Given the description of an element on the screen output the (x, y) to click on. 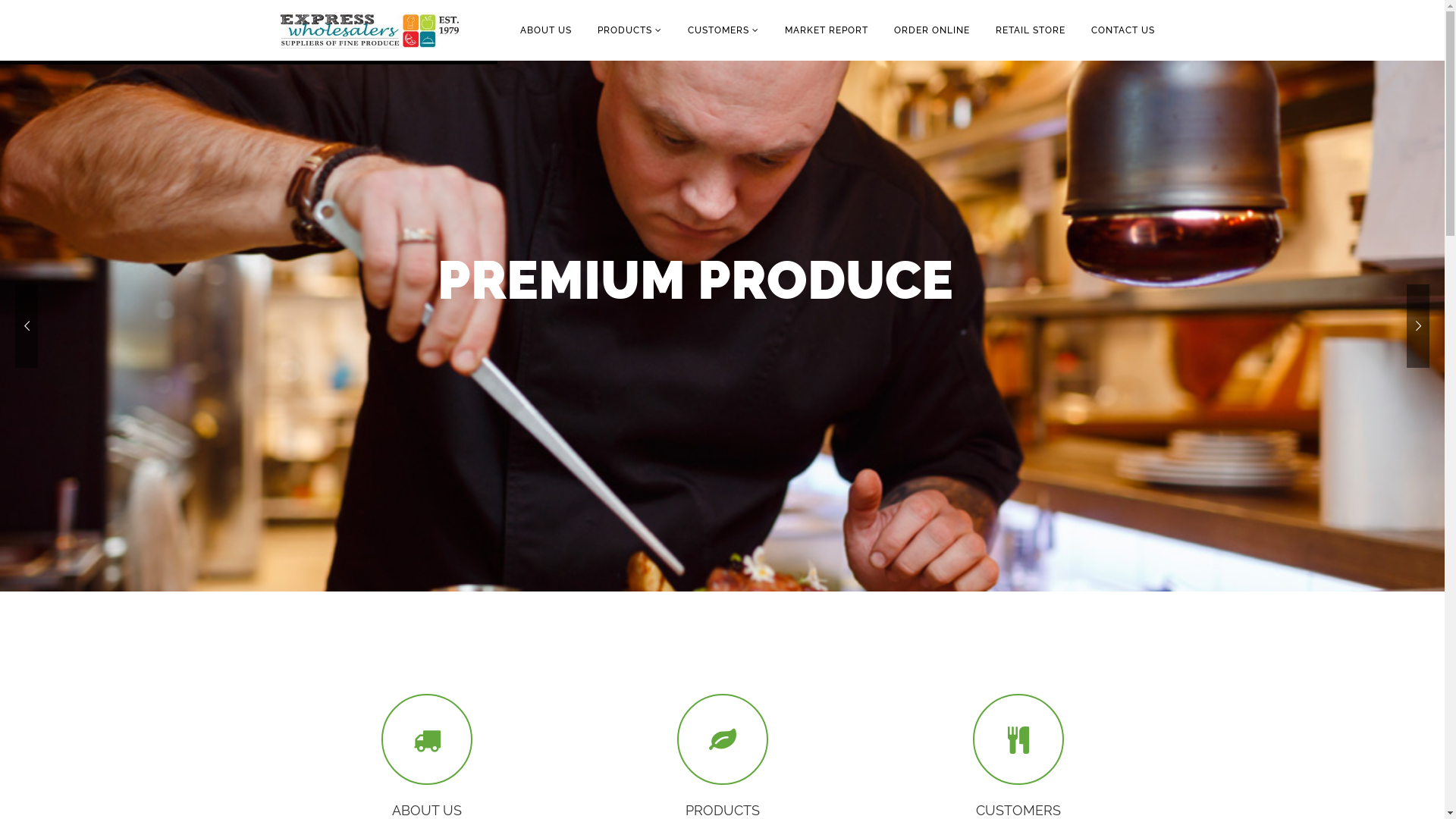
ABOUT US Element type: text (545, 30)
ORDER ONLINE Element type: text (931, 30)
CUSTOMERS Element type: text (723, 30)
MARKET REPORT Element type: text (826, 30)
RETAIL STORE Element type: text (1030, 30)
PRODUCTS Element type: text (628, 30)
CONTACT US Element type: text (1122, 30)
